Given the description of an element on the screen output the (x, y) to click on. 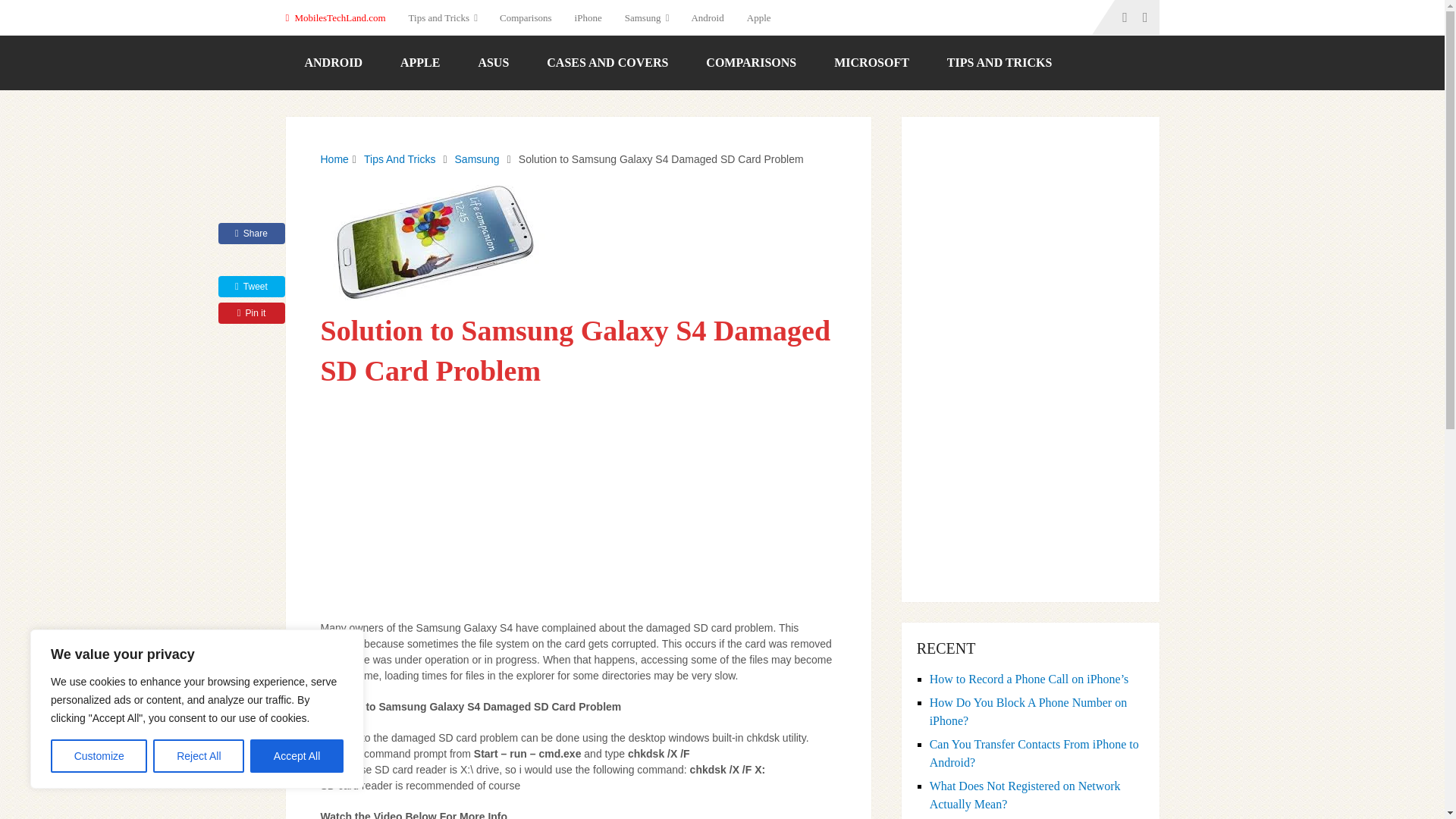
Samsung (645, 17)
Comparisons (525, 17)
ANDROID (332, 63)
APPLE (419, 63)
Android (707, 17)
Accept All (296, 756)
MobilesTechLand.com (340, 17)
iPhone (587, 17)
ASUS (492, 63)
Reject All (198, 756)
Tips and Tricks (442, 17)
Apple (759, 17)
Customize (98, 756)
